Given the description of an element on the screen output the (x, y) to click on. 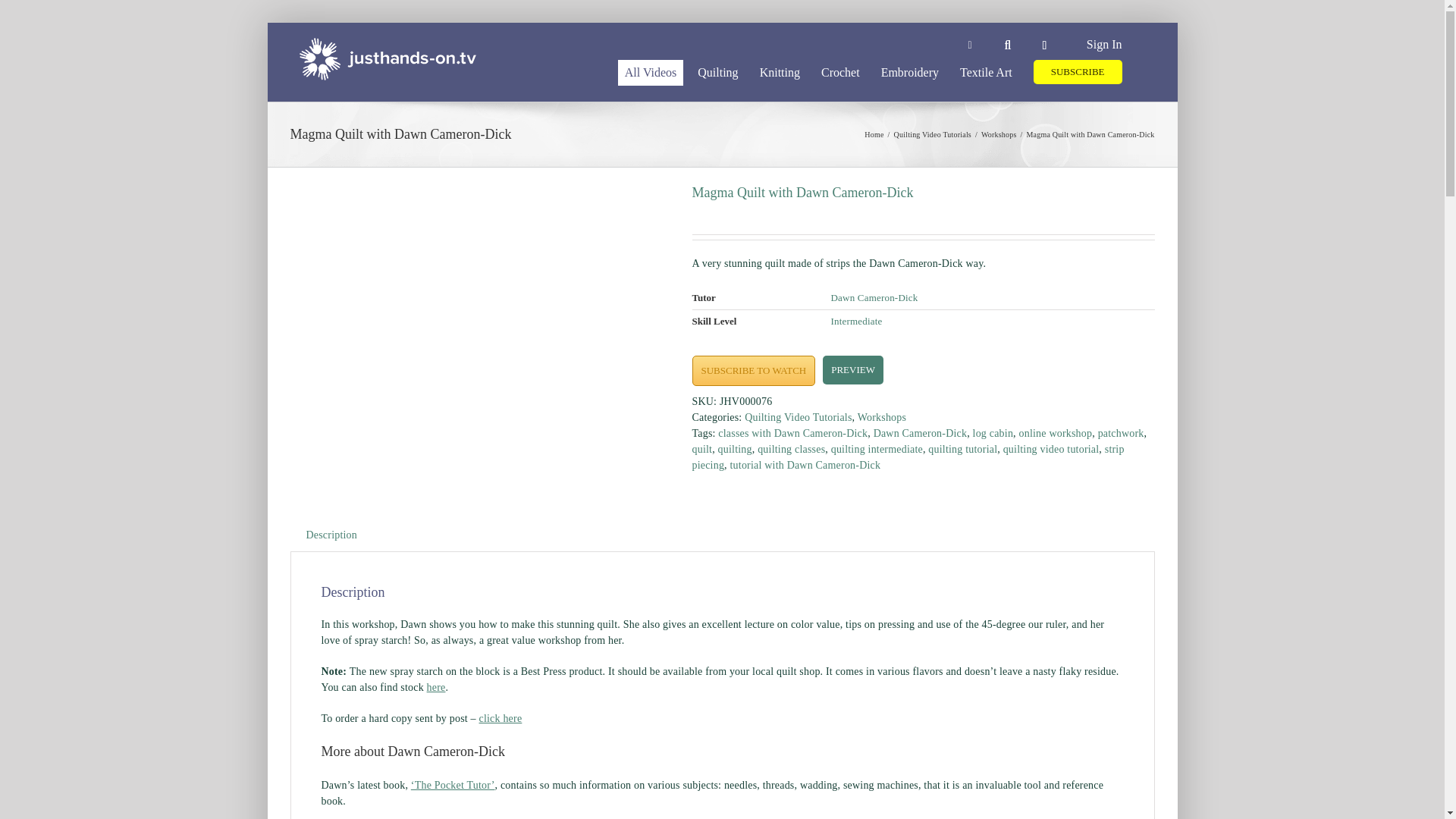
Quilting (717, 71)
Knitting (779, 71)
Crochet (839, 71)
Search (1007, 45)
All Videos (650, 71)
